Given the description of an element on the screen output the (x, y) to click on. 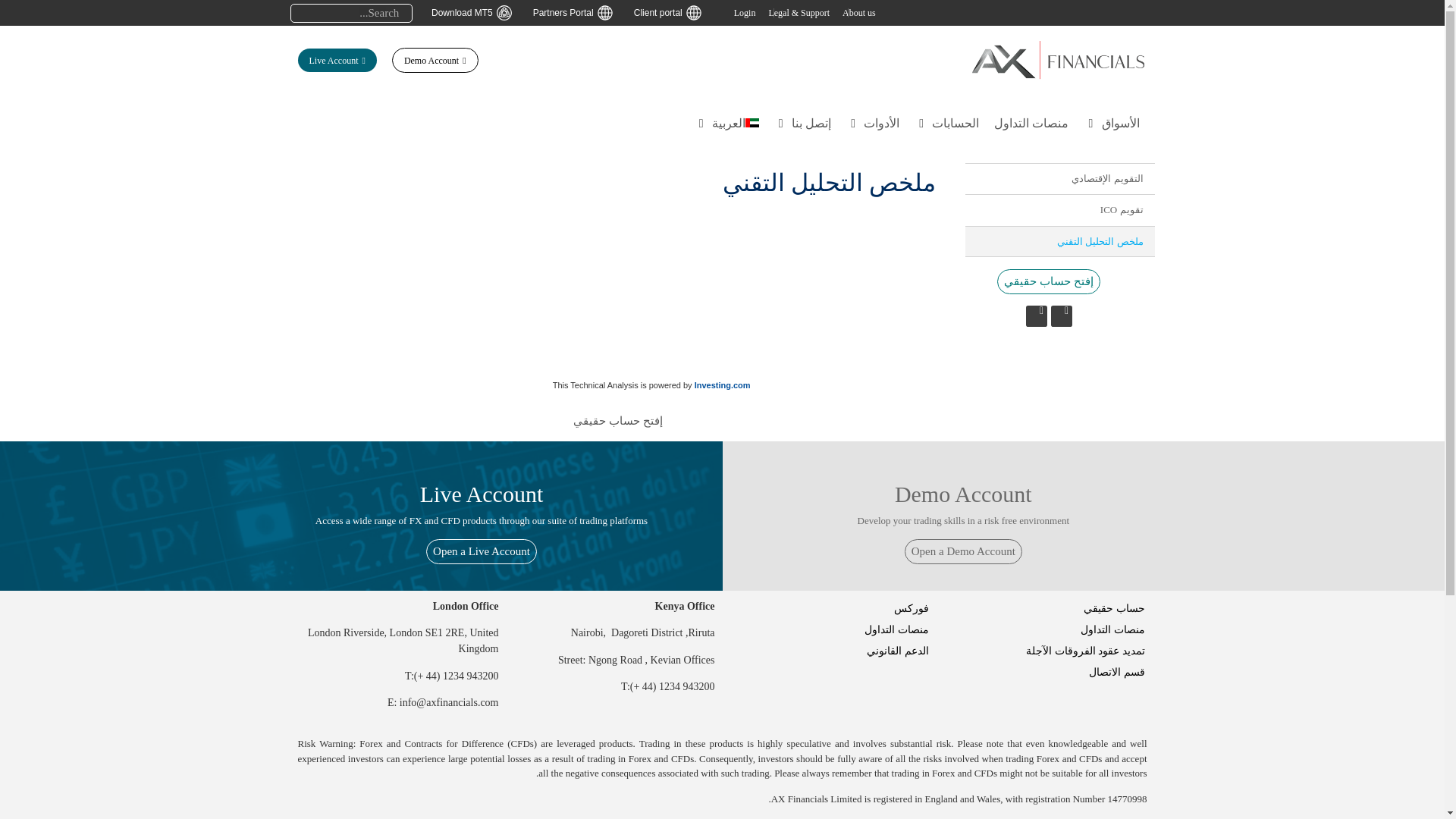
Login (744, 12)
Download MT5 (474, 12)
Client portal (670, 12)
About us (859, 12)
Partners Portal (576, 12)
Live Account (336, 60)
Demo Account (435, 59)
